Given the description of an element on the screen output the (x, y) to click on. 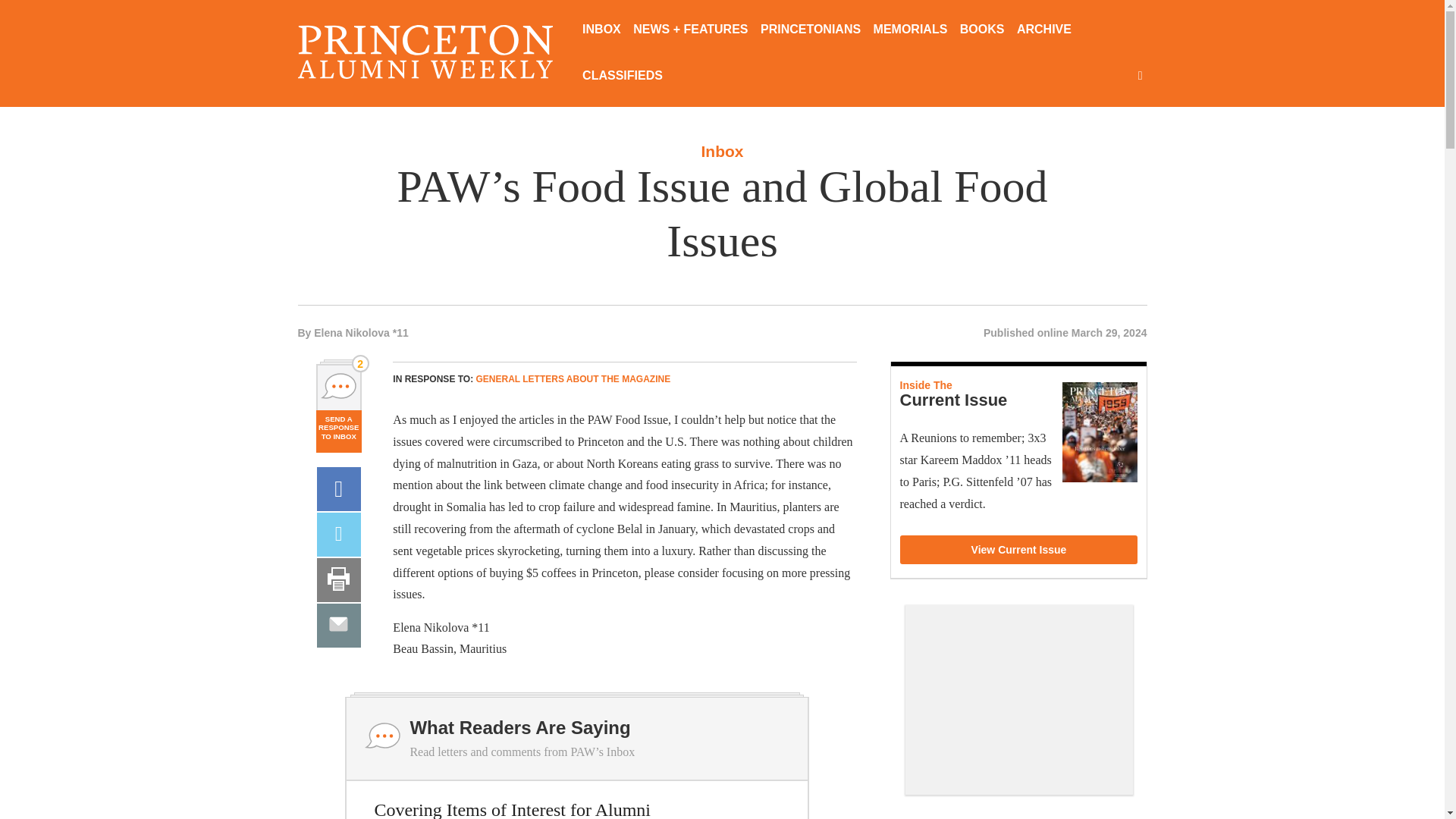
BOOKS (982, 30)
INBOX (602, 30)
SEND A RESPONSE TO INBOX (338, 431)
CLASSIFIEDS (622, 76)
GENERAL LETTERS ABOUT THE MAGAZINE (573, 378)
Covering Items of Interest for Alumni (512, 809)
PRINCETONIANS (809, 30)
MEMORIALS (910, 30)
ARCHIVE (1043, 30)
